Given the description of an element on the screen output the (x, y) to click on. 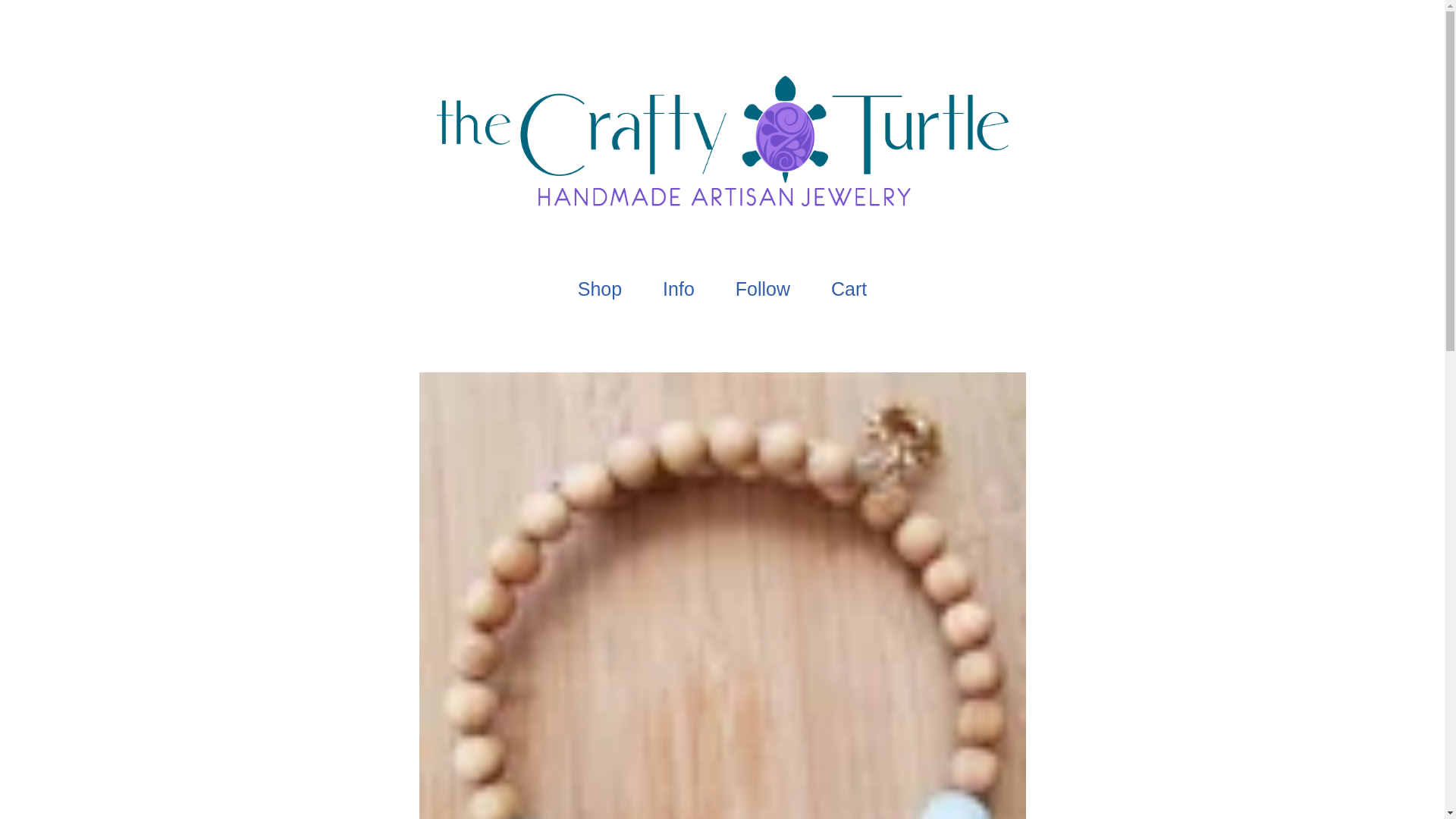
Follow (762, 288)
Shop (599, 288)
Cart (848, 288)
Info (678, 288)
